Given the description of an element on the screen output the (x, y) to click on. 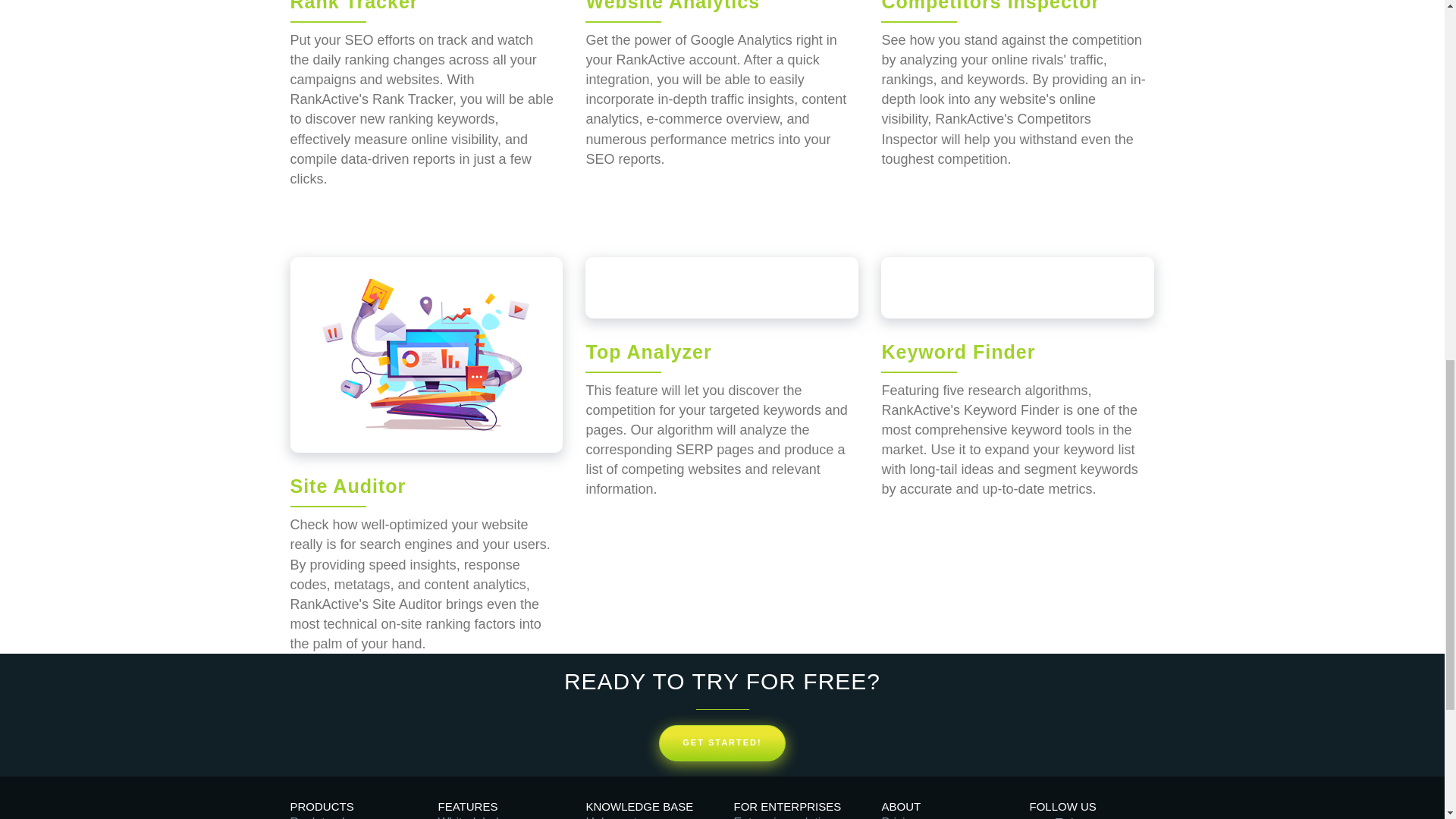
Website Analytics (672, 6)
Competitors Inspector (989, 6)
Rank Tracker (353, 6)
